Given the description of an element on the screen output the (x, y) to click on. 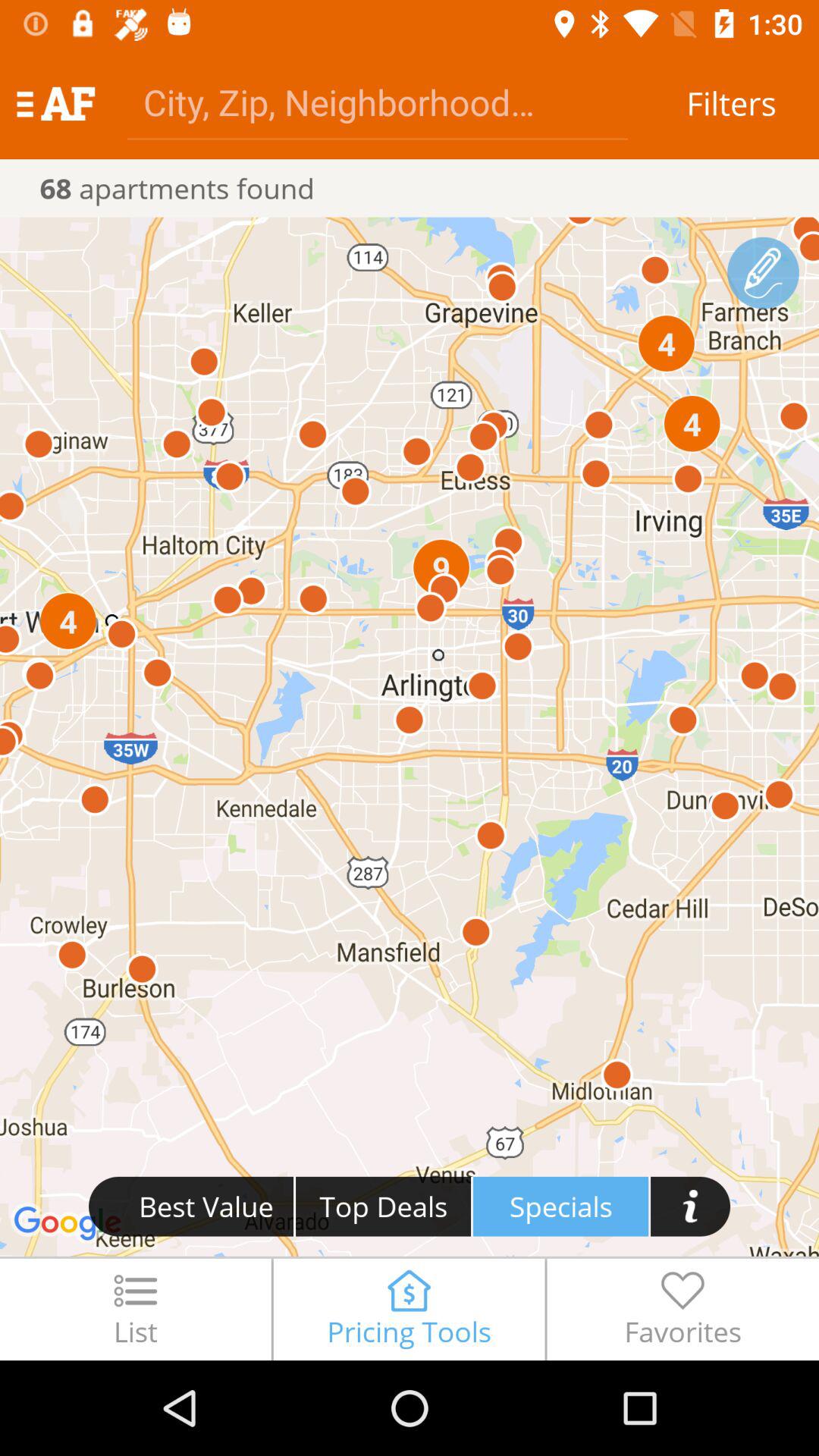
button i (690, 1205)
